Given the description of an element on the screen output the (x, y) to click on. 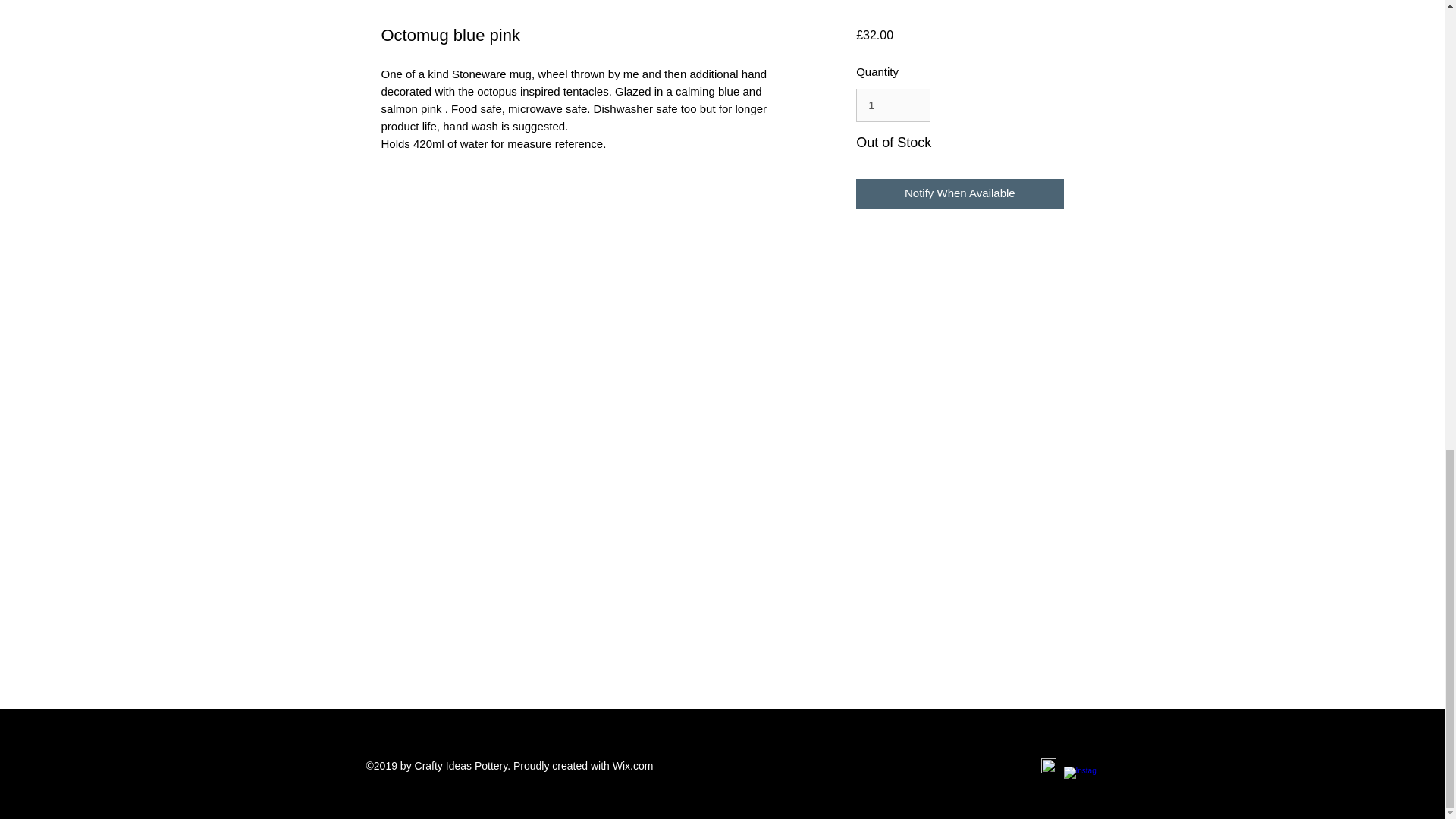
1 (893, 105)
Notify When Available (959, 193)
